Given the description of an element on the screen output the (x, y) to click on. 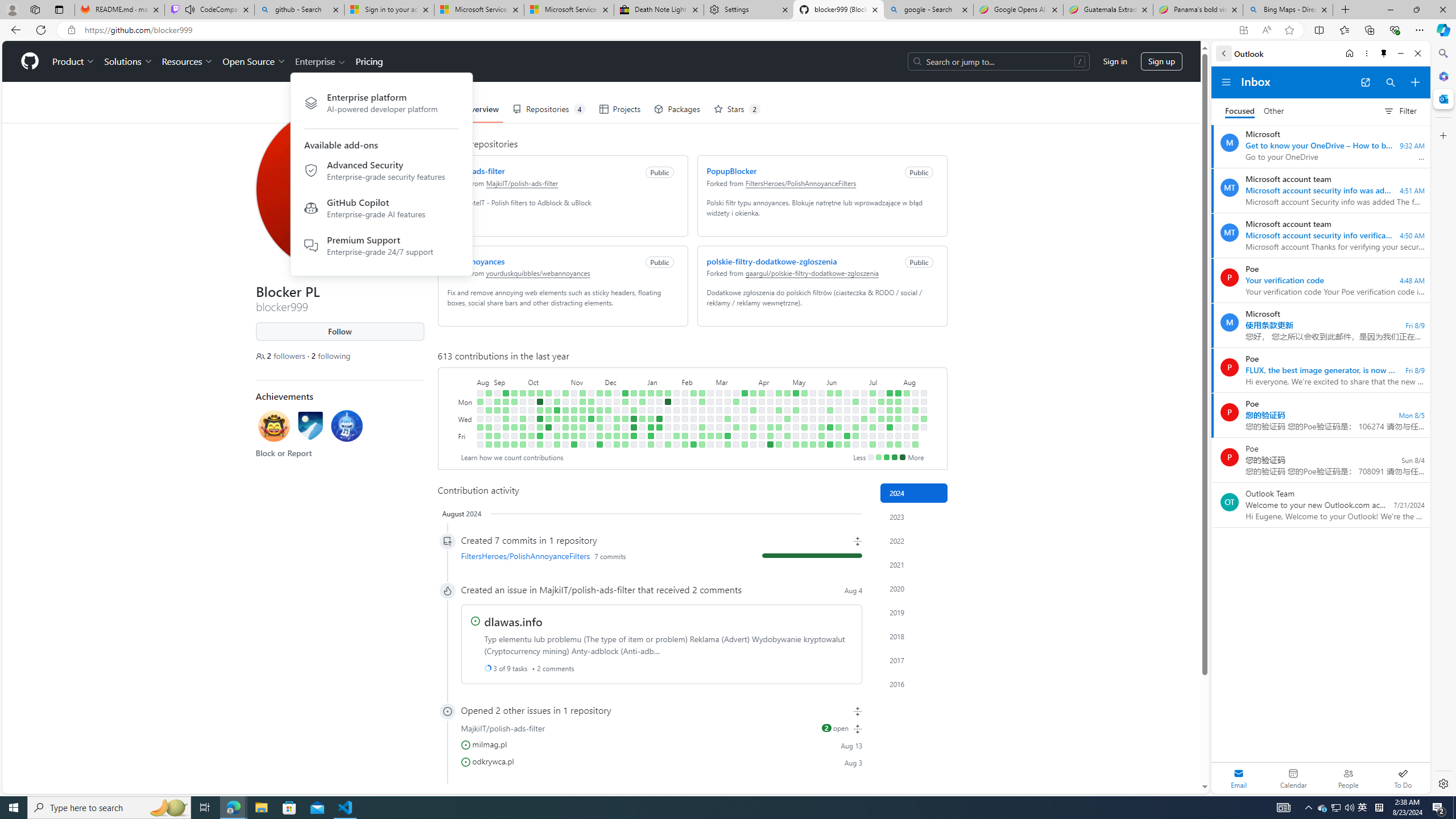
No contributions on June 14th. (837, 435)
2 contributions on April 21st. (777, 392)
2 contributions on June 2nd. (829, 392)
6 contributions on January 18th. (658, 427)
Sign up (1161, 61)
Achievement: Pull Shark (346, 425)
2 contributions on December 8th. (607, 435)
No contributions on March 17th. (735, 392)
10 contributions on March 24th. (744, 392)
Compose new mail (1414, 82)
No contributions on November 25th. (591, 444)
No contributions on April 1st. (753, 401)
14 contributions on December 27th. (633, 418)
